Given the description of an element on the screen output the (x, y) to click on. 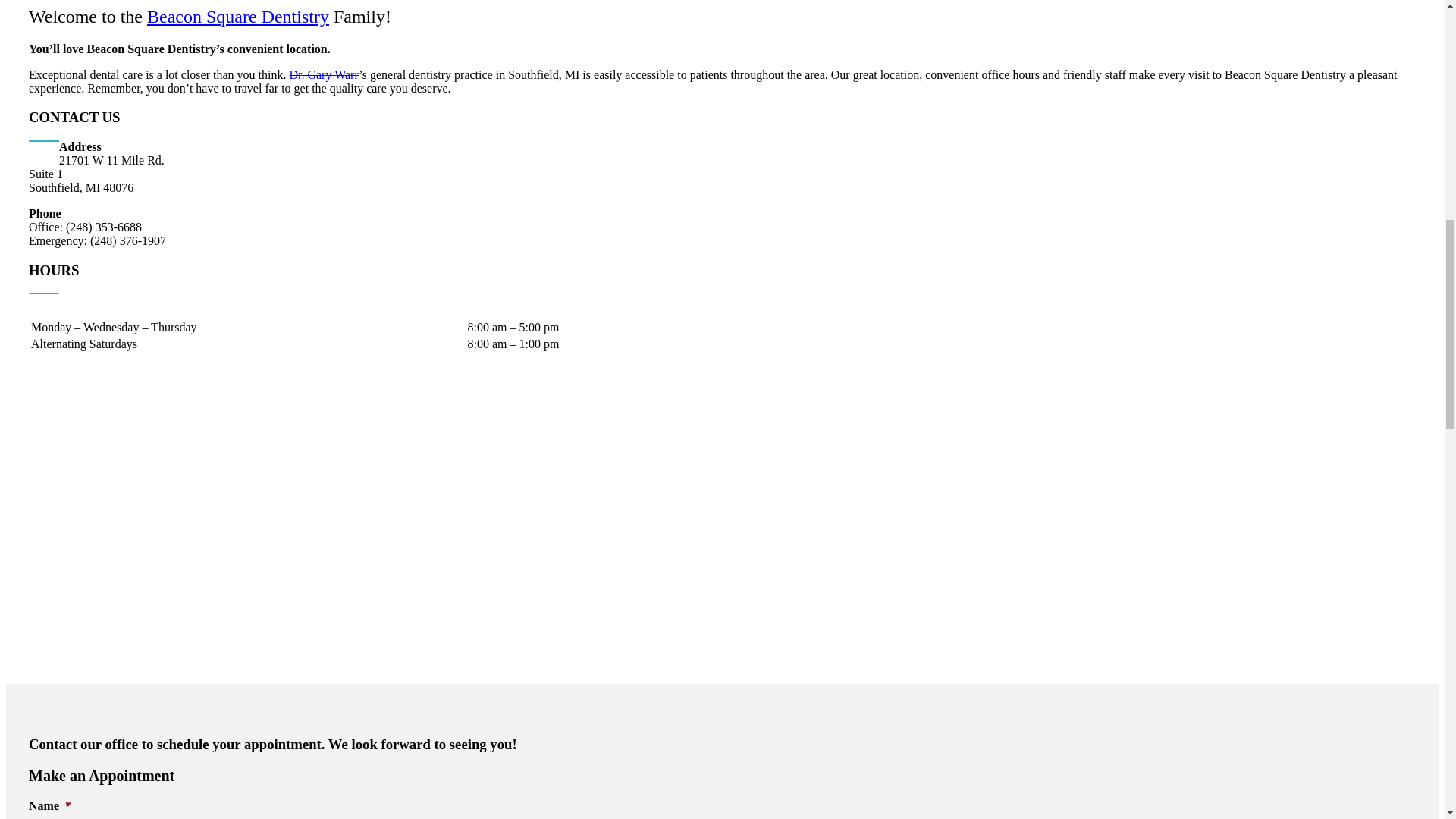
Beacon Square Dentistry (238, 16)
Dr. Gary Warr (323, 74)
